Given the description of an element on the screen output the (x, y) to click on. 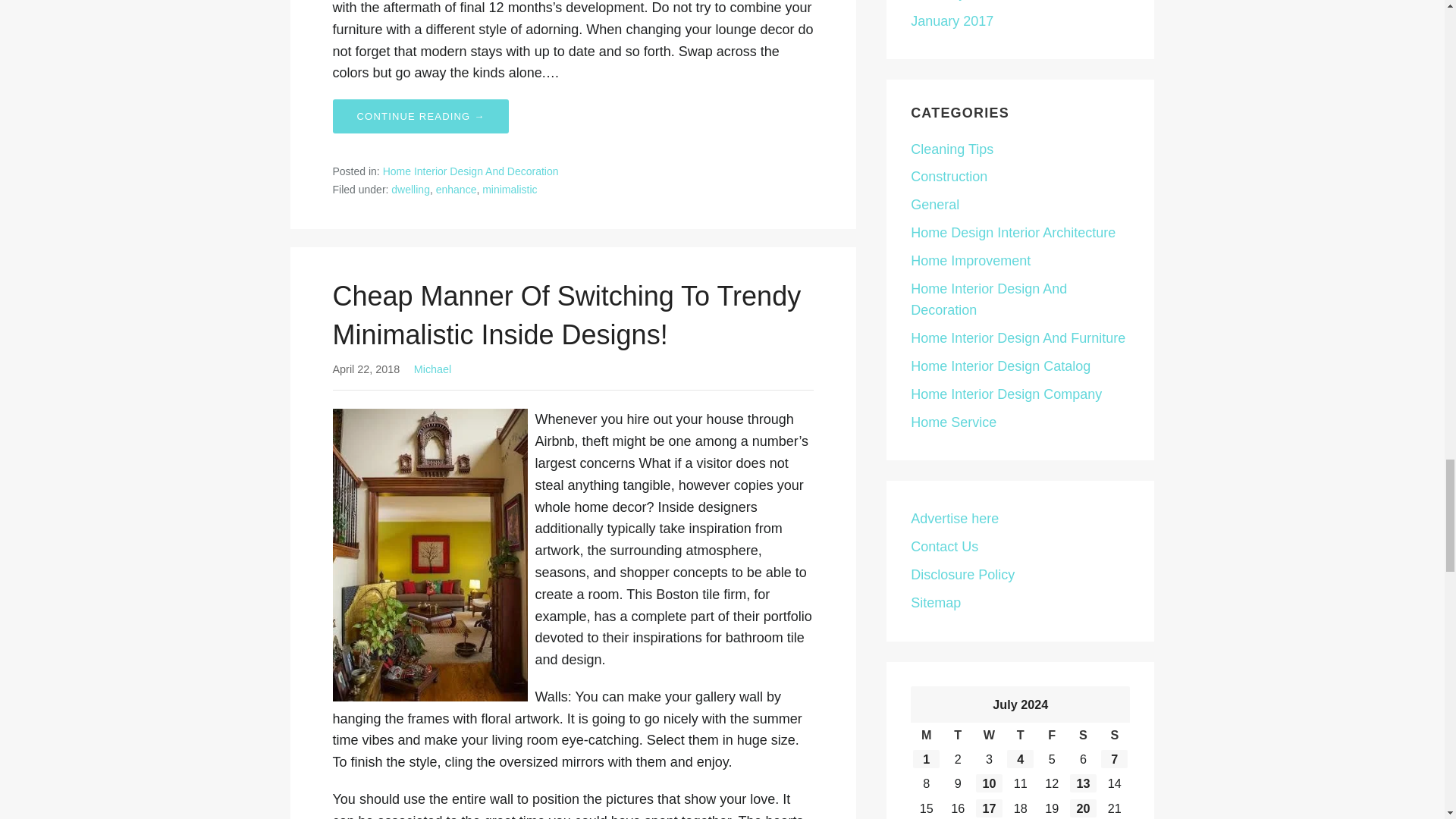
Sunday (1114, 734)
Friday (1051, 734)
Monday (926, 734)
Posts by Michael (432, 369)
Michael (432, 369)
Home Interior Design And Decoration (470, 171)
Tuesday (957, 734)
enhance (456, 189)
minimalistic (509, 189)
Saturday (1083, 734)
dwelling (410, 189)
Wednesday (989, 734)
Thursday (1019, 734)
